Given the description of an element on the screen output the (x, y) to click on. 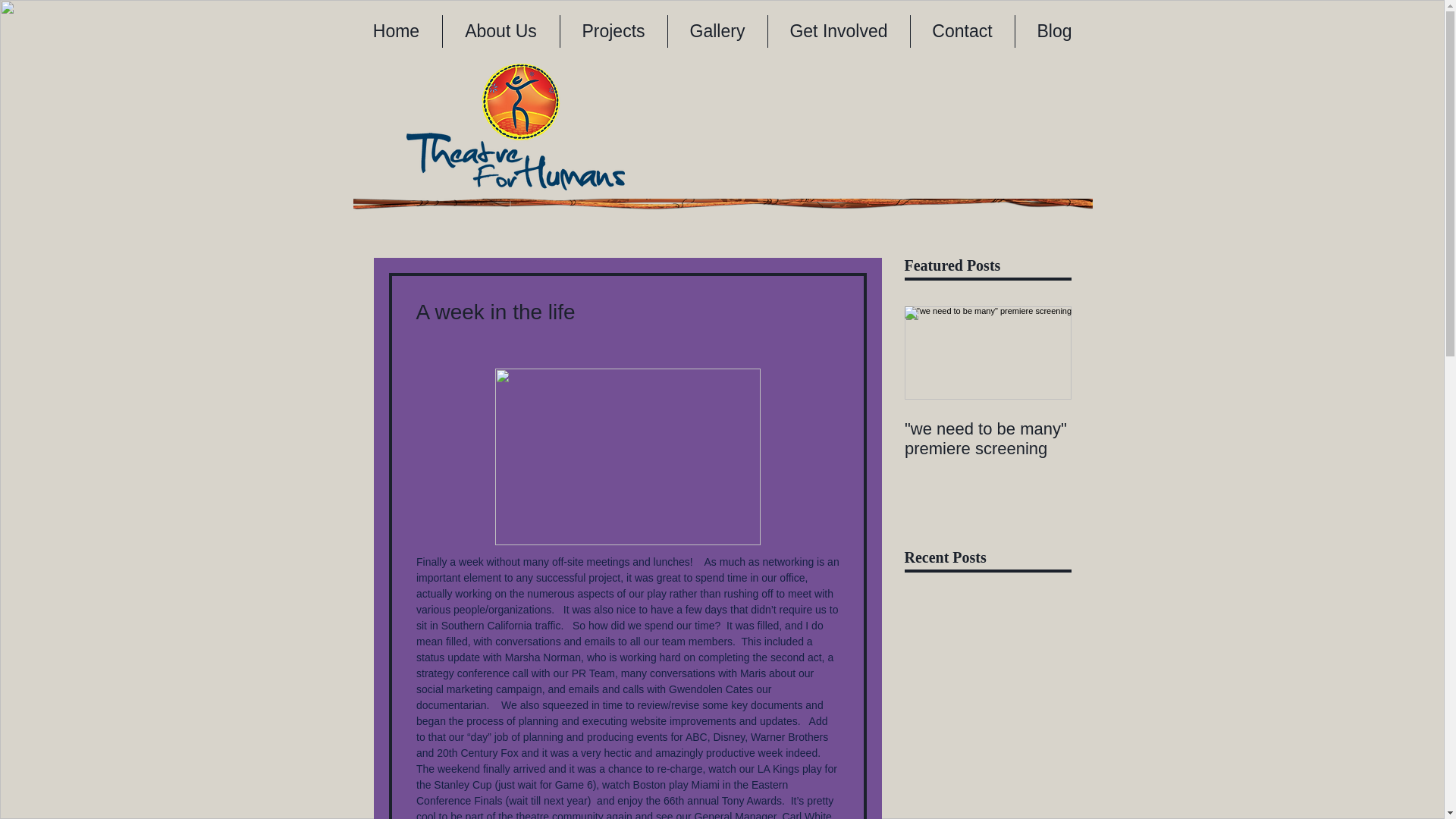
Home (395, 31)
Blog (1053, 31)
"we need to be many" premiere screening (987, 438)
Projects (612, 31)
Get Involved (837, 31)
About Us (500, 31)
Contact (961, 31)
Gallery (716, 31)
